Given the description of an element on the screen output the (x, y) to click on. 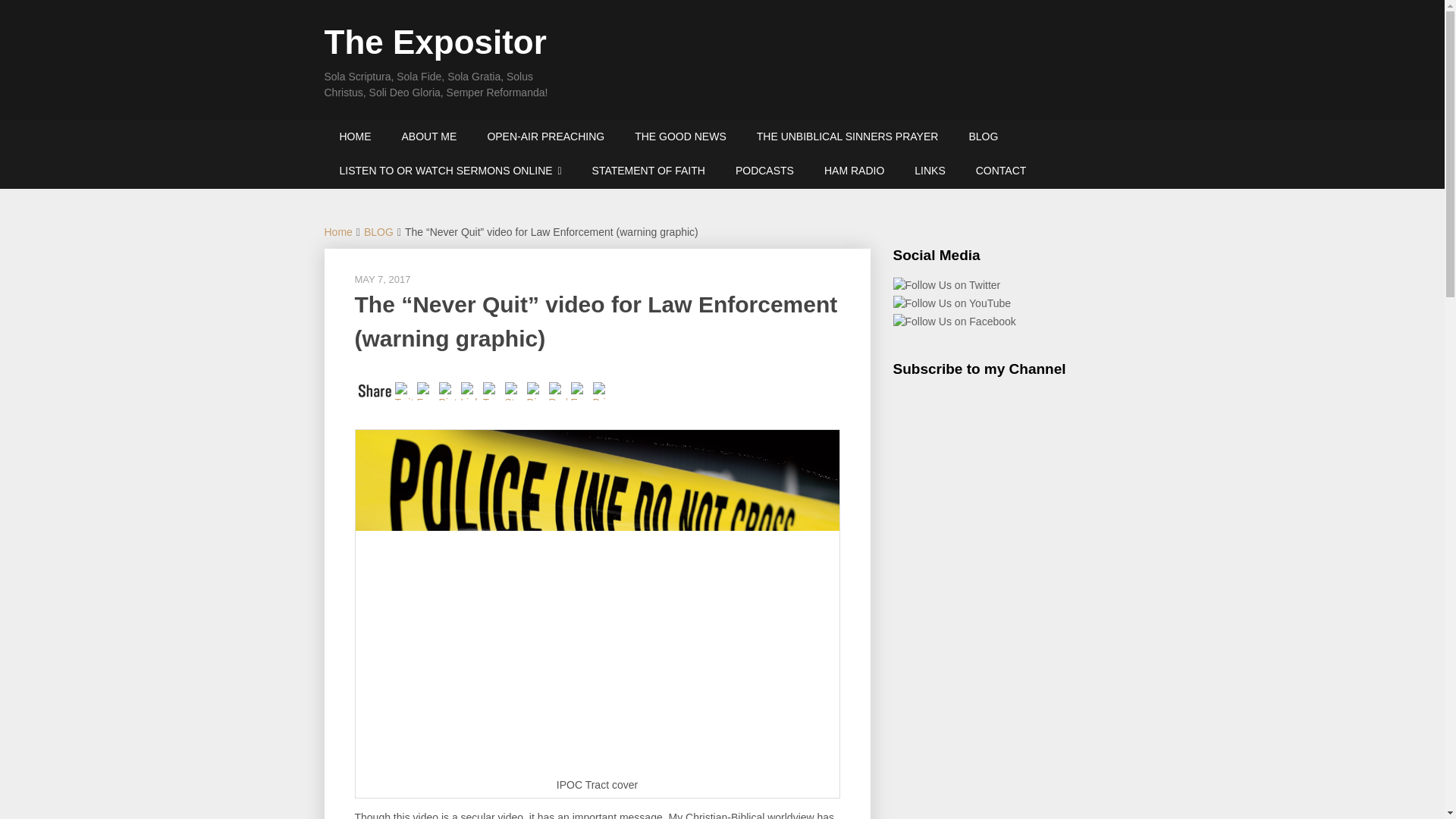
OPEN-AIR PREACHING (545, 136)
THE UNBIBLICAL SINNERS PRAYER (847, 136)
Facebook (427, 389)
Pinterest (449, 389)
The Expositor (435, 41)
HOME (355, 136)
ABOUT ME (429, 136)
Email (581, 389)
THE GOOD NEWS (680, 136)
LISTEN TO OR WATCH SERMONS ONLINE (450, 170)
